Given the description of an element on the screen output the (x, y) to click on. 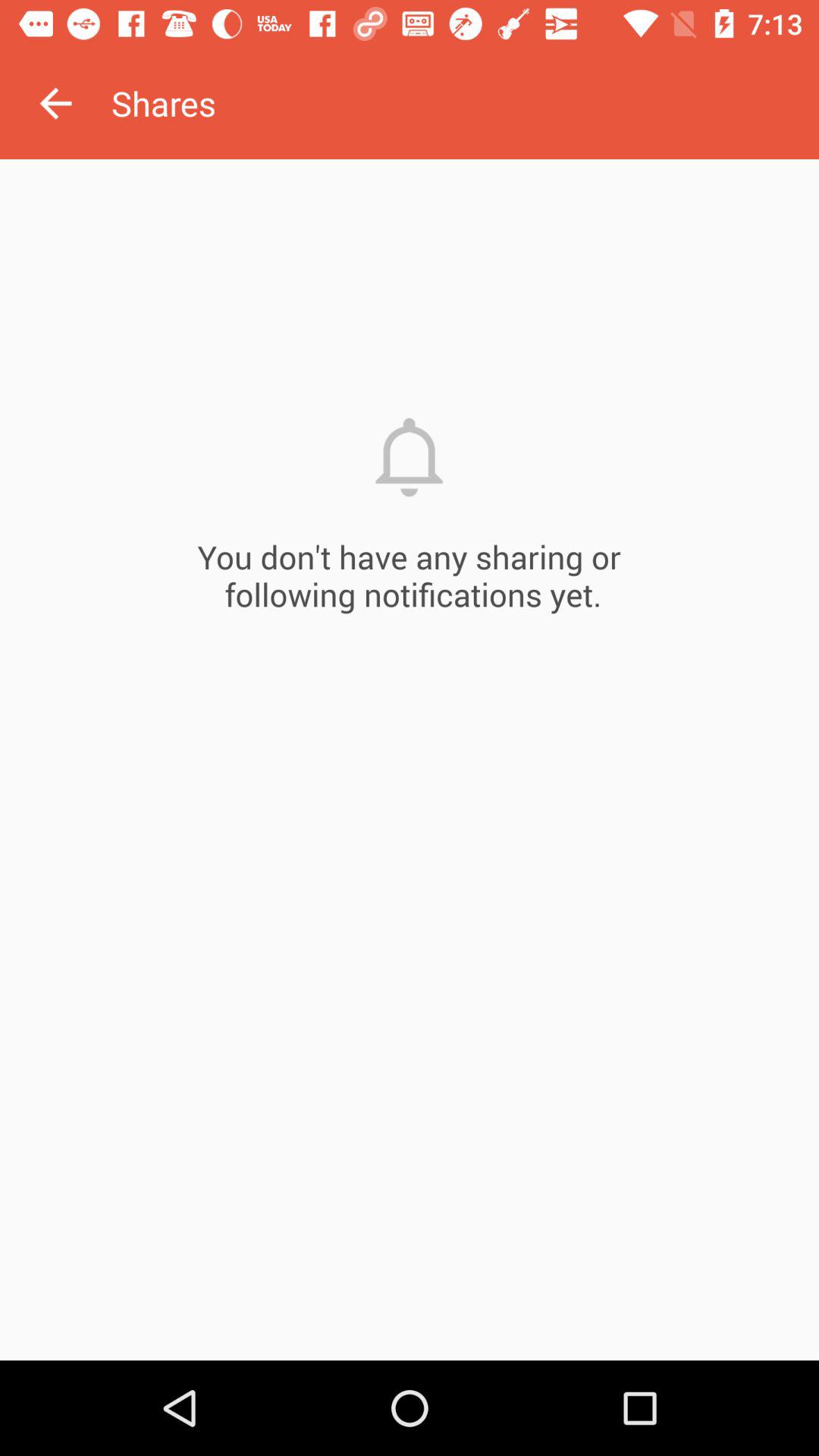
choose the icon at the top left corner (55, 103)
